Given the description of an element on the screen output the (x, y) to click on. 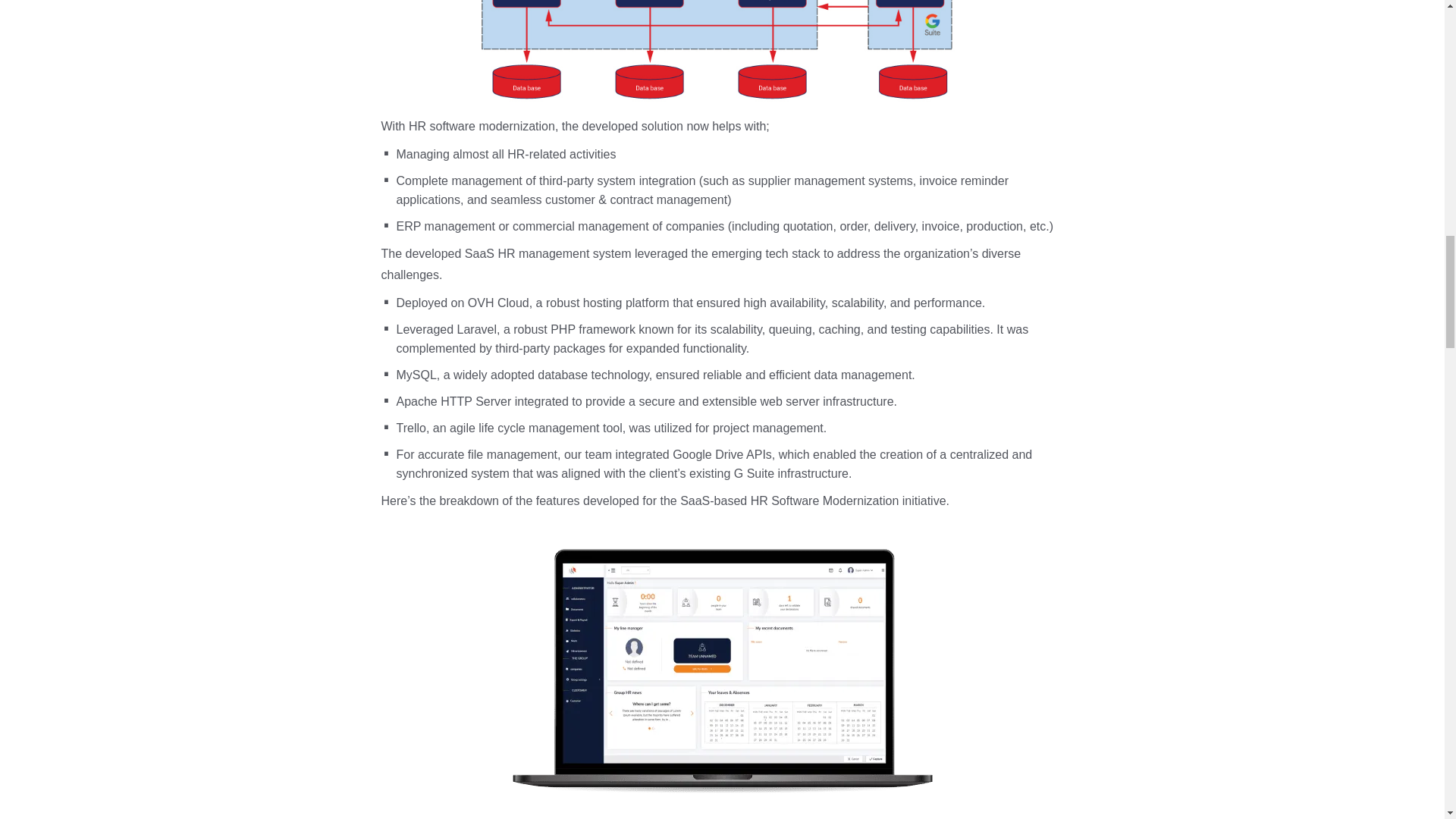
Saas-based HR solution architecture (721, 58)
